Given the description of an element on the screen output the (x, y) to click on. 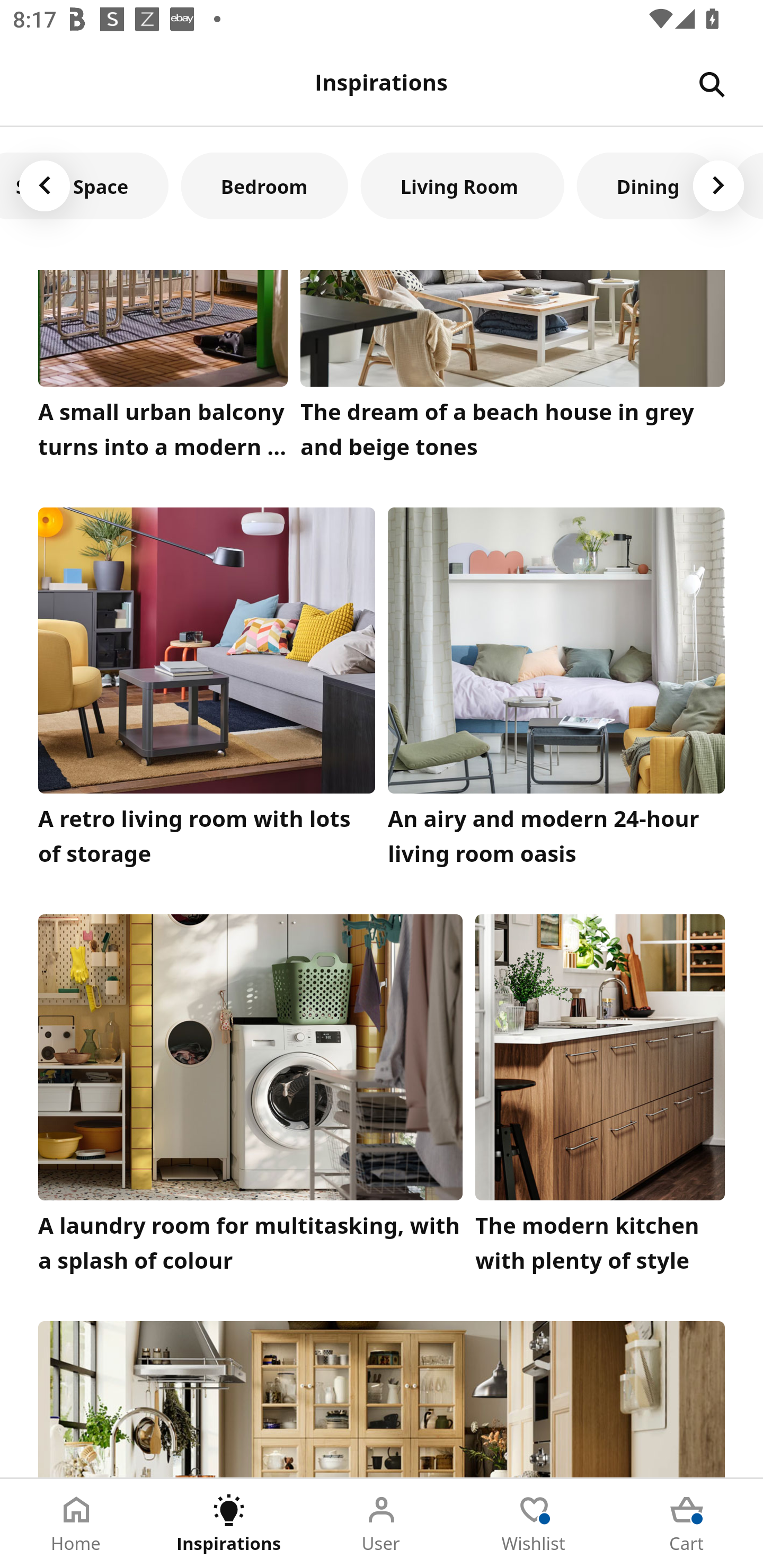
Bedroom (264, 185)
Living Room  (462, 185)
Dining (648, 185)
The dream of a beach house in grey and beige tones (512, 368)
A retro living room with lots of storage (206, 692)
An airy and modern 24-hour living room oasis (555, 692)
The modern kitchen with plenty of style (599, 1098)
Home
Tab 1 of 5 (76, 1522)
Inspirations
Tab 2 of 5 (228, 1522)
User
Tab 3 of 5 (381, 1522)
Wishlist
Tab 4 of 5 (533, 1522)
Cart
Tab 5 of 5 (686, 1522)
